Given the description of an element on the screen output the (x, y) to click on. 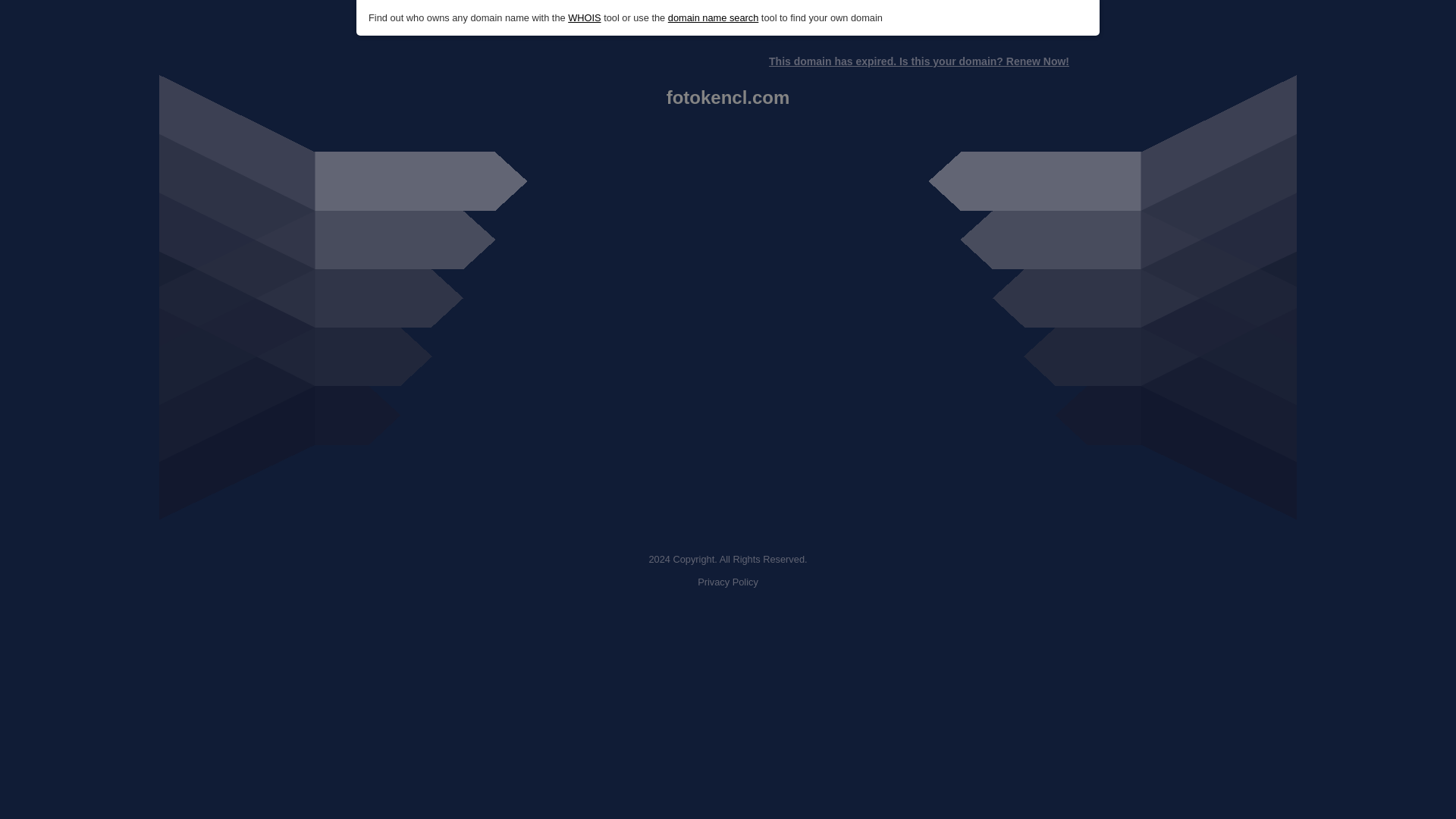
Privacy Policy (727, 582)
This domain has expired. Is this your domain? Renew Now! (918, 61)
domain name search (713, 17)
WHOIS (583, 17)
